Given the description of an element on the screen output the (x, y) to click on. 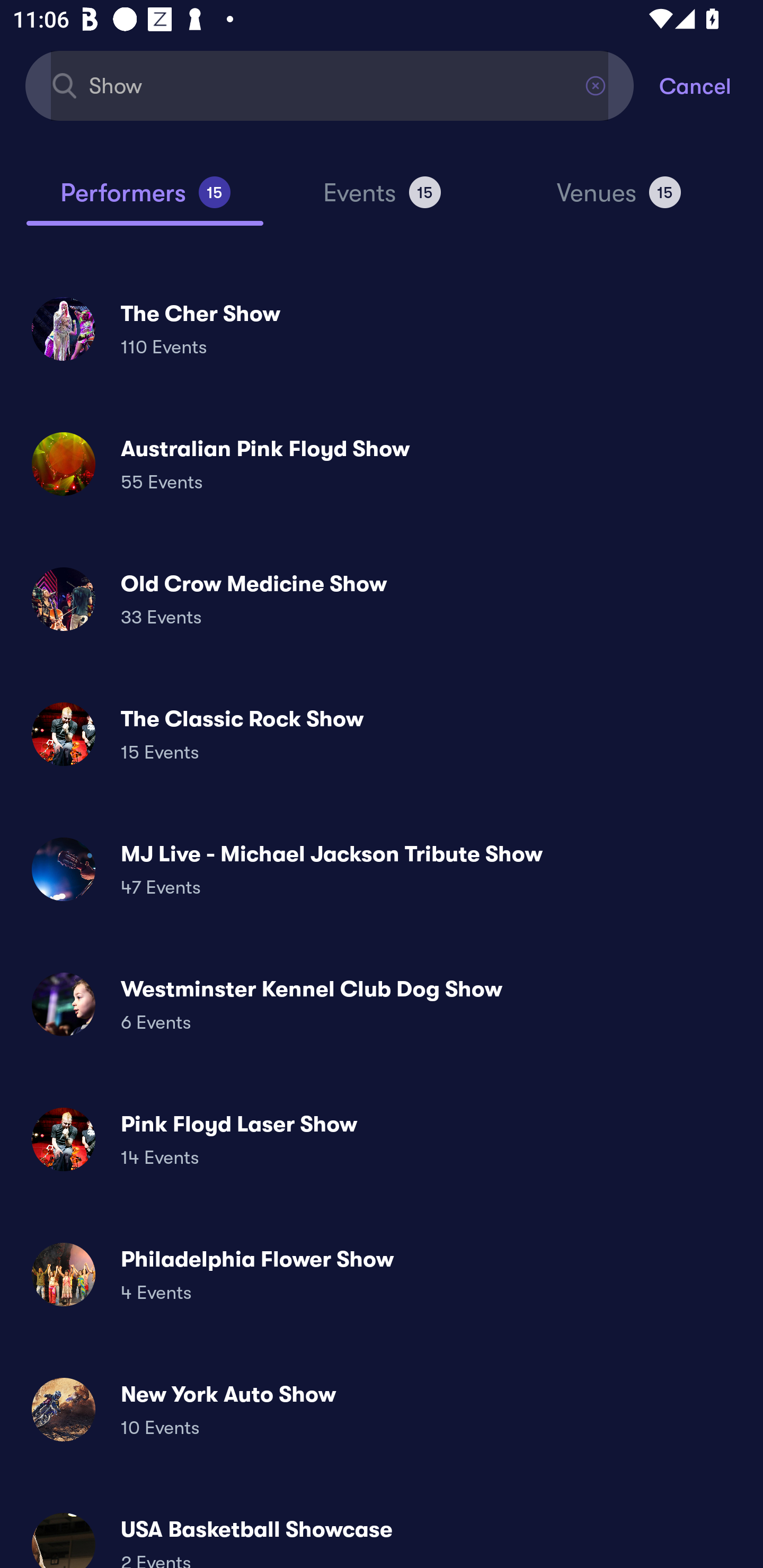
Show Find (329, 85)
Show Find (329, 85)
Cancel (711, 85)
Performers 15 (144, 200)
Events 15 (381, 200)
Venues 15 (618, 200)
The Cher Show 110 Events (381, 328)
Australian Pink Floyd Show 55 Events (381, 464)
Old Crow Medicine Show 33 Events (381, 598)
The Classic Rock Show 15 Events (381, 734)
MJ Live - Michael Jackson Tribute Show 47 Events (381, 869)
Westminster Kennel Club Dog Show 6 Events (381, 1004)
Pink Floyd Laser Show 14 Events (381, 1138)
Philadelphia Flower Show 4 Events (381, 1273)
New York Auto Show 10 Events (381, 1409)
USA Basketball Showcase 2 Events (381, 1532)
